Given the description of an element on the screen output the (x, y) to click on. 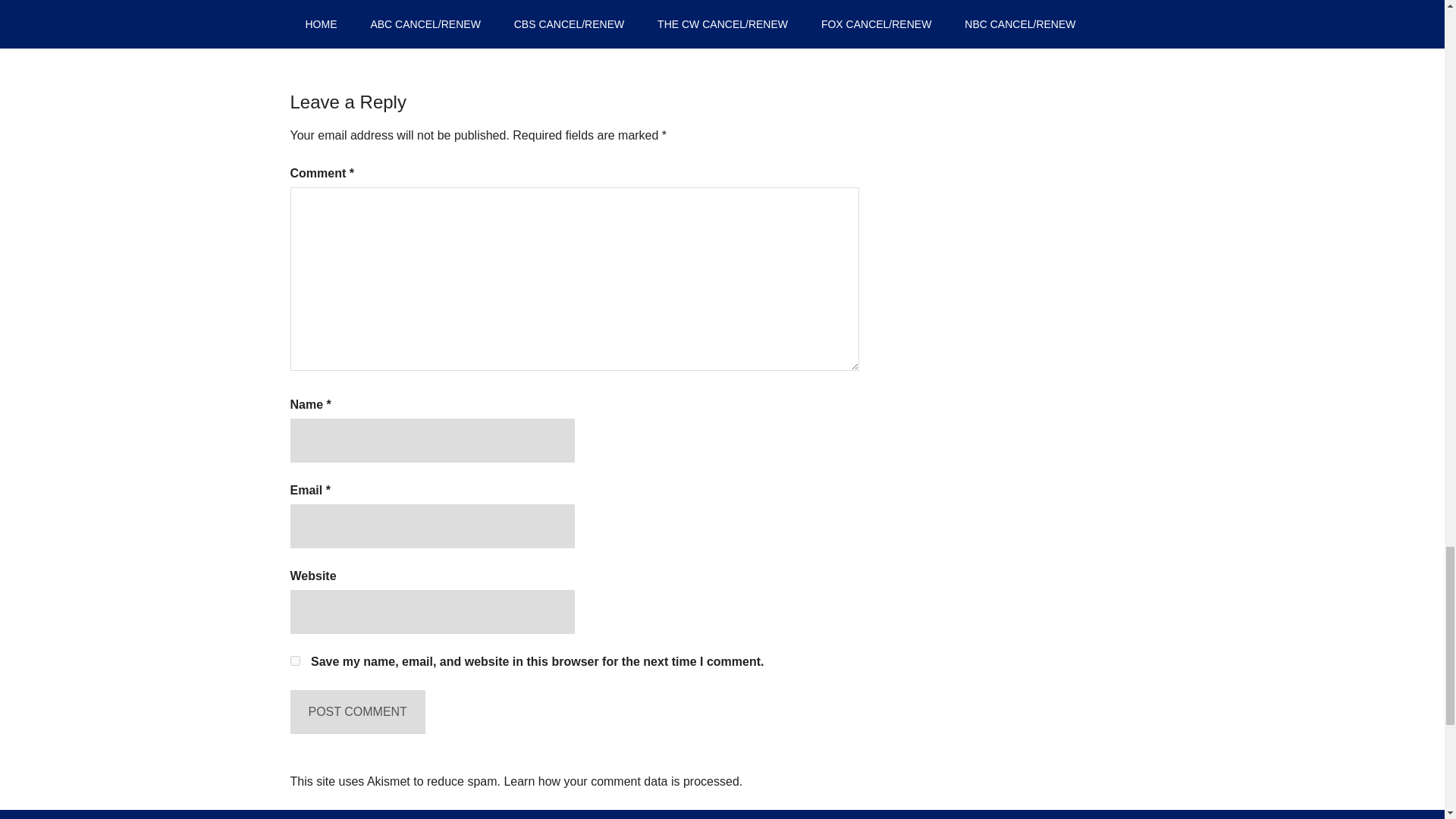
Restaurant: Impossible (607, 19)
Restaurant: Impossible (653, 3)
Restaurant Impossible: Back in Business (451, 19)
Renewed (373, 3)
Restaurant Impossible: Back in Business (497, 3)
yes (294, 660)
Restaurant: Impossible Cancelled (747, 19)
Post Comment (357, 711)
Post Comment (357, 711)
Spinoff TV Shows (755, 3)
